Given the description of an element on the screen output the (x, y) to click on. 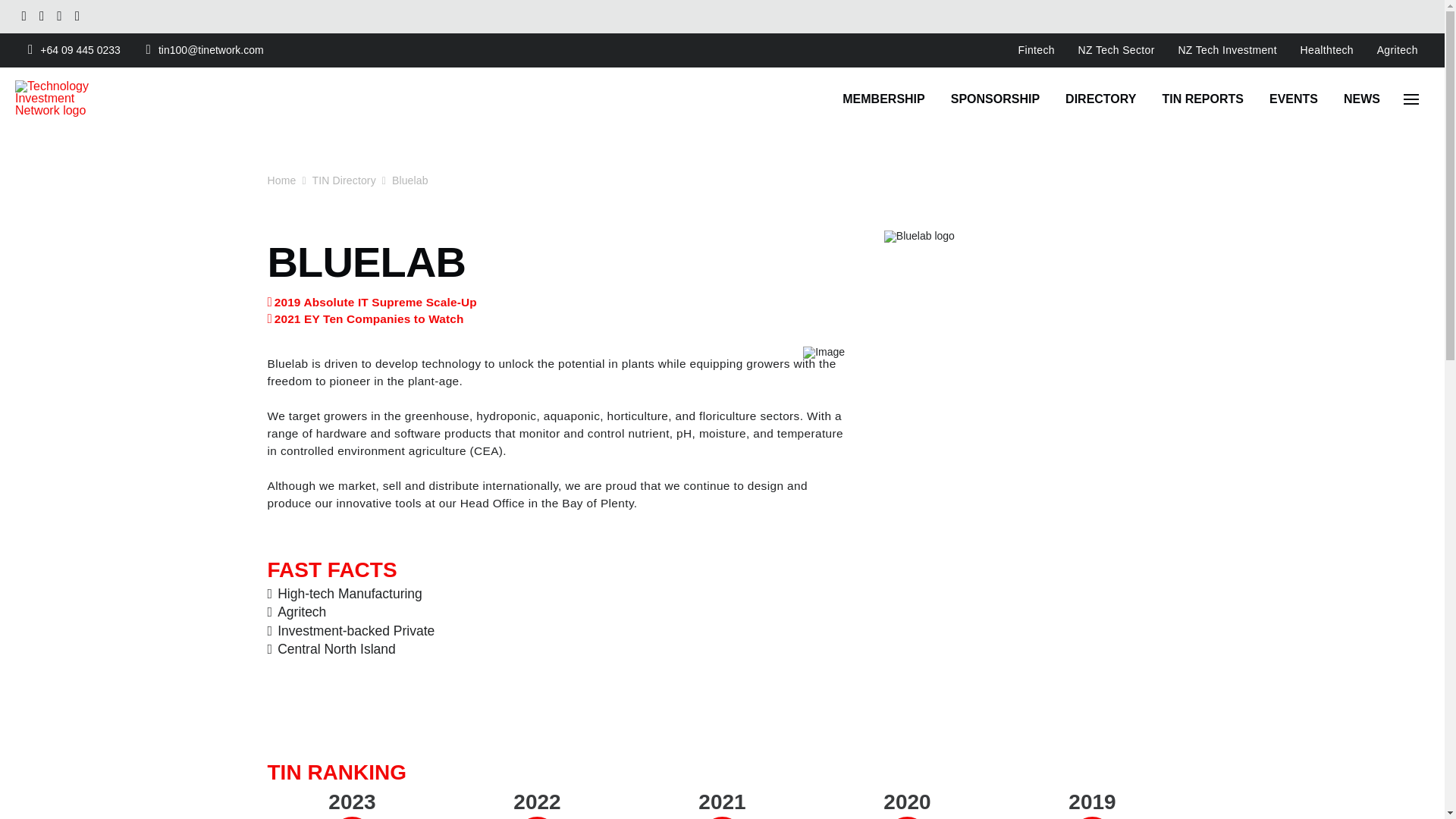
67 (722, 817)
106 (1092, 817)
TIN Directory (344, 180)
NZ Tech Investment (1227, 49)
SPONSORSHIP (994, 99)
Home (280, 180)
Fintech (1036, 49)
73 (537, 817)
TIN REPORTS (1202, 99)
You Are Here (409, 180)
Agritech (1396, 49)
MEMBERSHIP (883, 99)
104 (907, 817)
NEWS (1361, 99)
DIRECTORY (1100, 99)
